Given the description of an element on the screen output the (x, y) to click on. 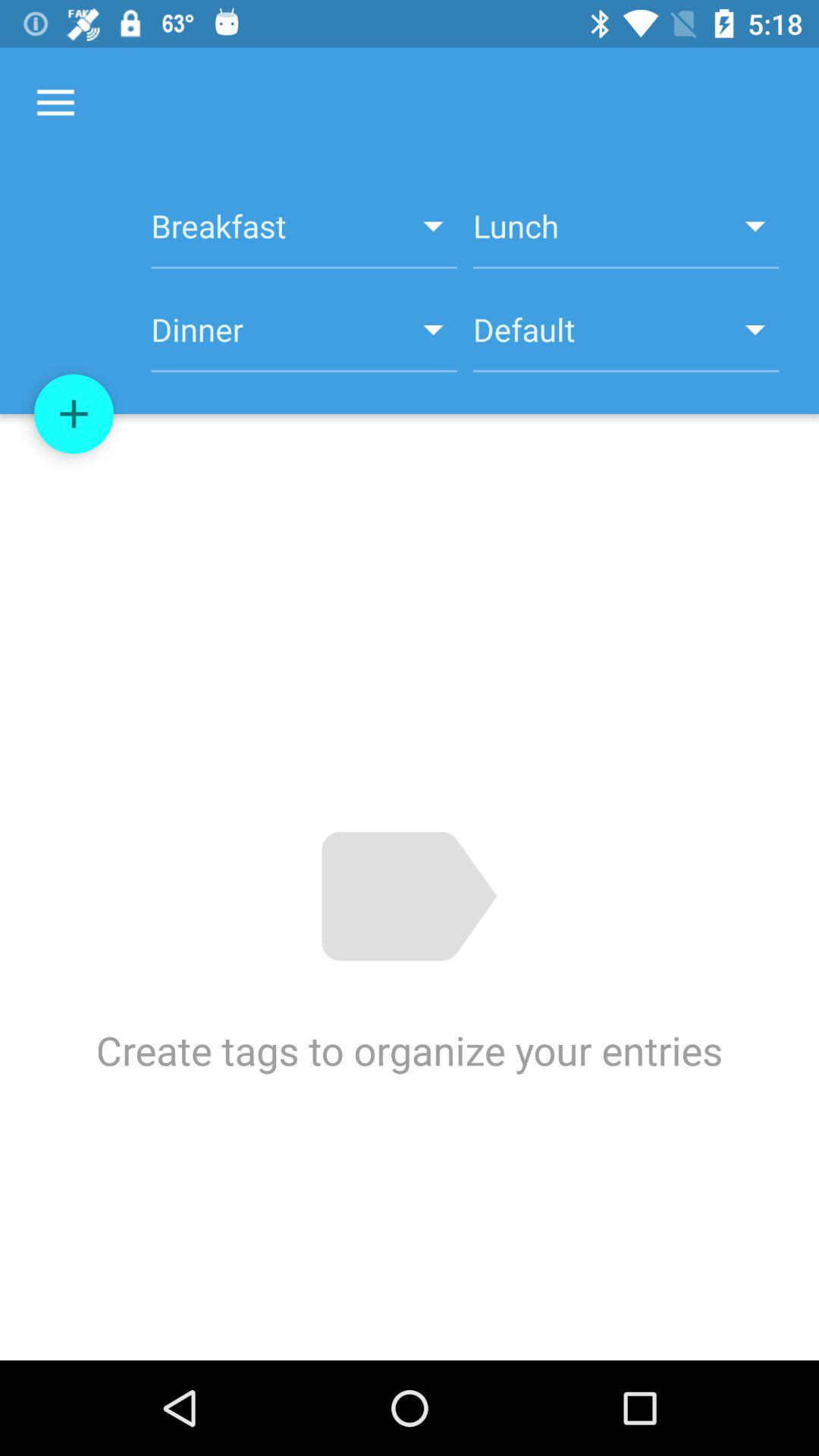
choose default (626, 338)
